Given the description of an element on the screen output the (x, y) to click on. 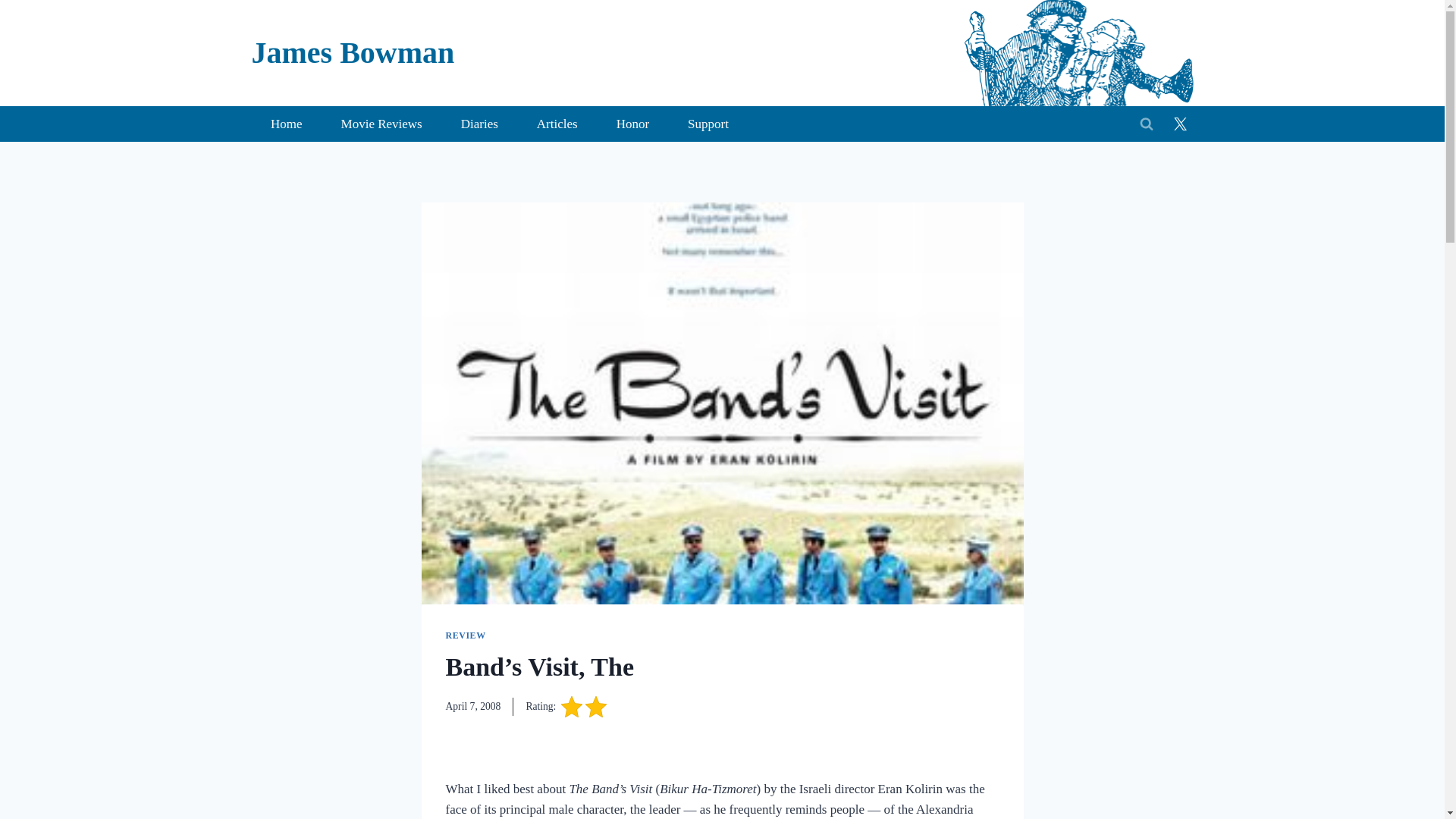
Support (708, 124)
Articles (556, 124)
Diaries (478, 124)
Home (286, 124)
REVIEW (465, 634)
James Bowman (352, 53)
Movie Reviews (381, 124)
Honor (632, 124)
